Given the description of an element on the screen output the (x, y) to click on. 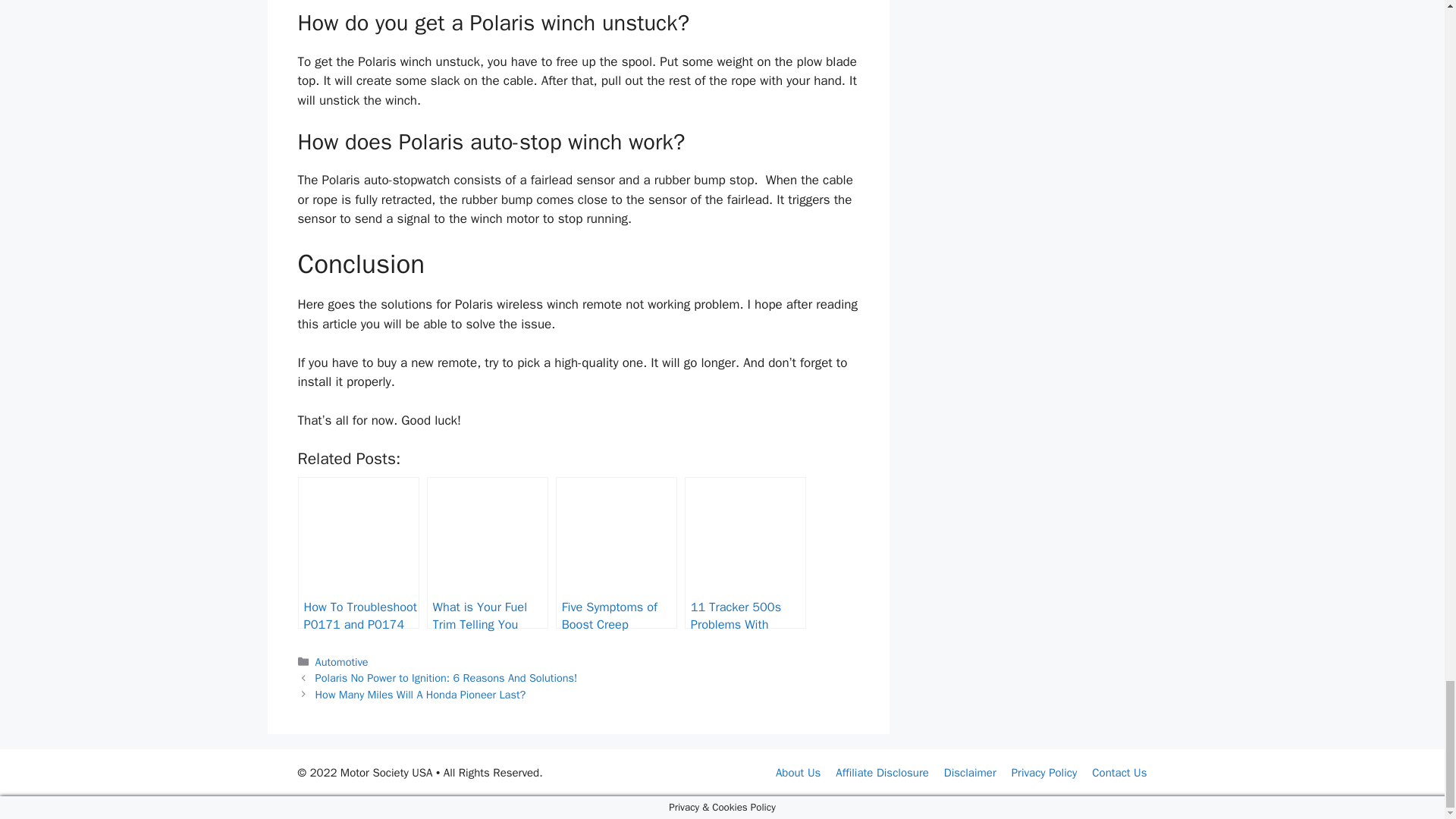
Affiliate Disclosure (881, 772)
Polaris No Power to Ignition: 6 Reasons And Solutions! (446, 677)
About Us (798, 772)
Automotive (341, 662)
How Many Miles Will A Honda Pioneer Last? (420, 694)
Disclaimer (969, 772)
Privacy Policy (1044, 772)
